Given the description of an element on the screen output the (x, y) to click on. 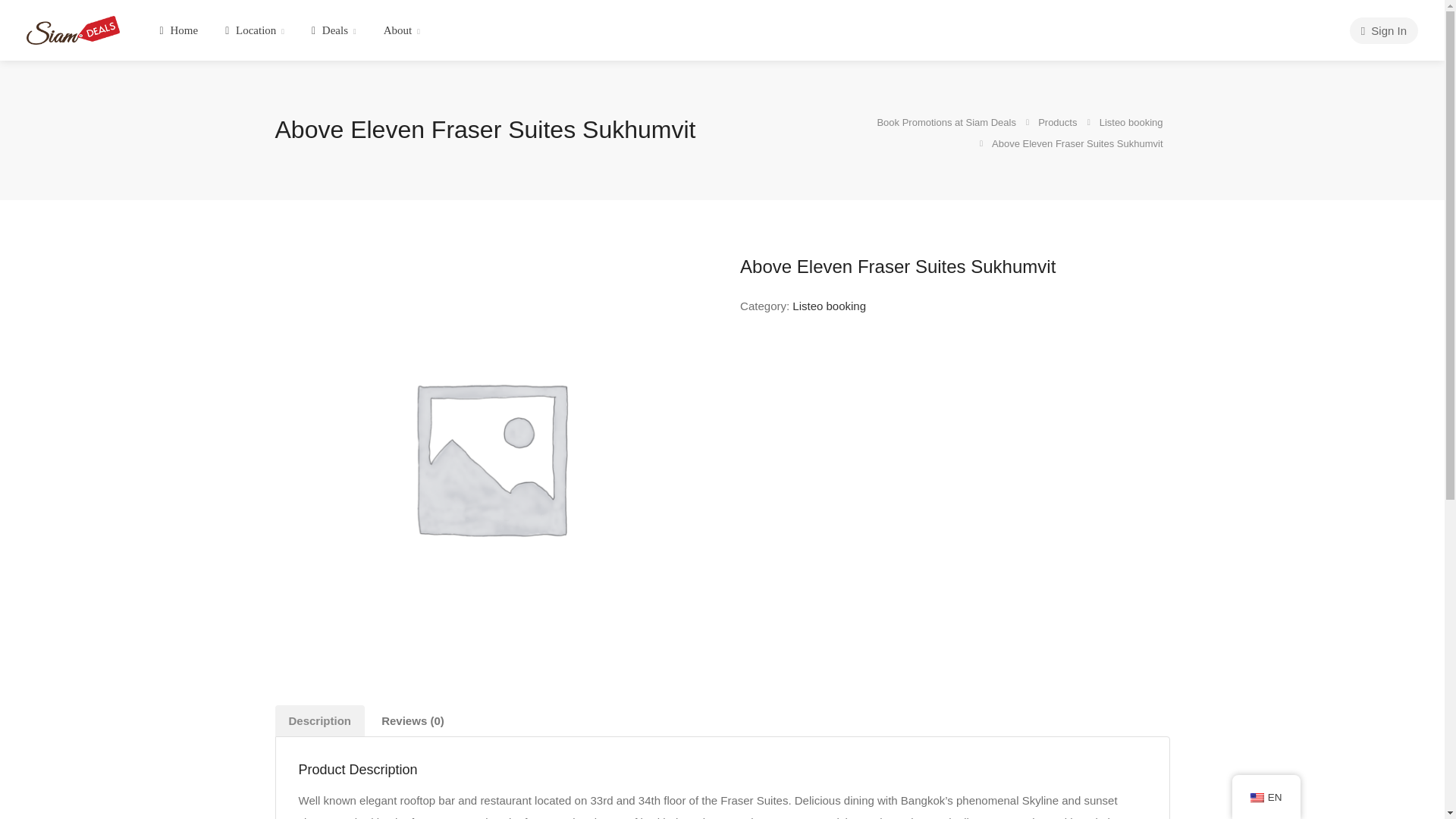
Home (178, 30)
Location (254, 30)
Go to the Listeo booking Category archives. (1132, 120)
About (401, 30)
Go to Products. (1058, 120)
Deals (333, 30)
Sign In (1383, 30)
Go to Book Promotions at Siam Deals. (946, 120)
Book Promotions at Siam Deals (72, 29)
English (1256, 797)
